Given the description of an element on the screen output the (x, y) to click on. 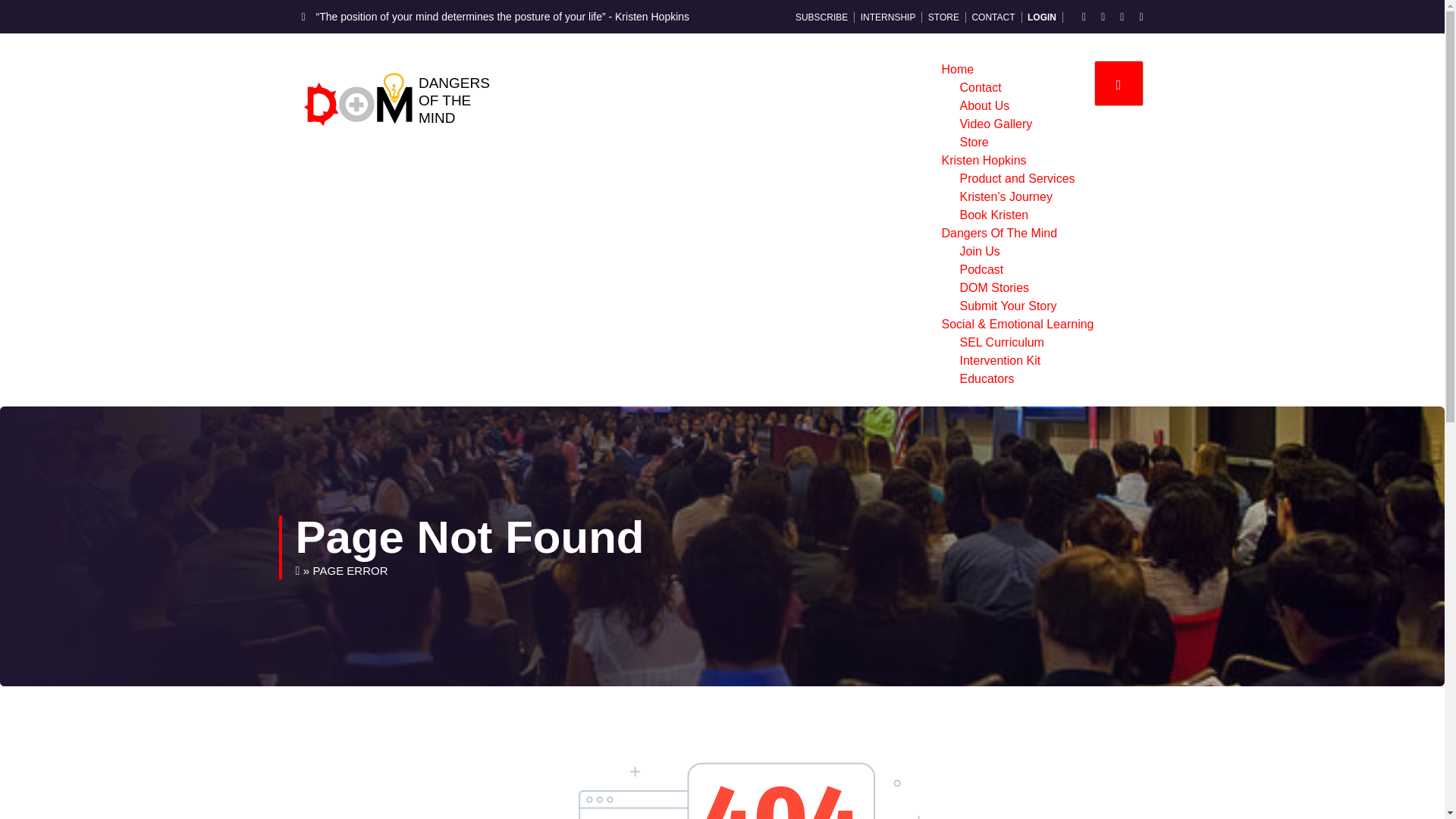
Video Gallery (995, 123)
Podcast (981, 269)
SUBSCRIBE (823, 17)
Dangers Of The Mind (998, 232)
Product and Services (1016, 178)
Kristen Hopkins (983, 160)
DOM Stories (994, 287)
Join Us (978, 250)
About Us (984, 105)
DANGERS OF THE MIND (454, 100)
SEL Curriculum (1001, 341)
Submit Your Story (1008, 305)
STORE (945, 17)
Educators (986, 378)
CONTACT (994, 17)
